Given the description of an element on the screen output the (x, y) to click on. 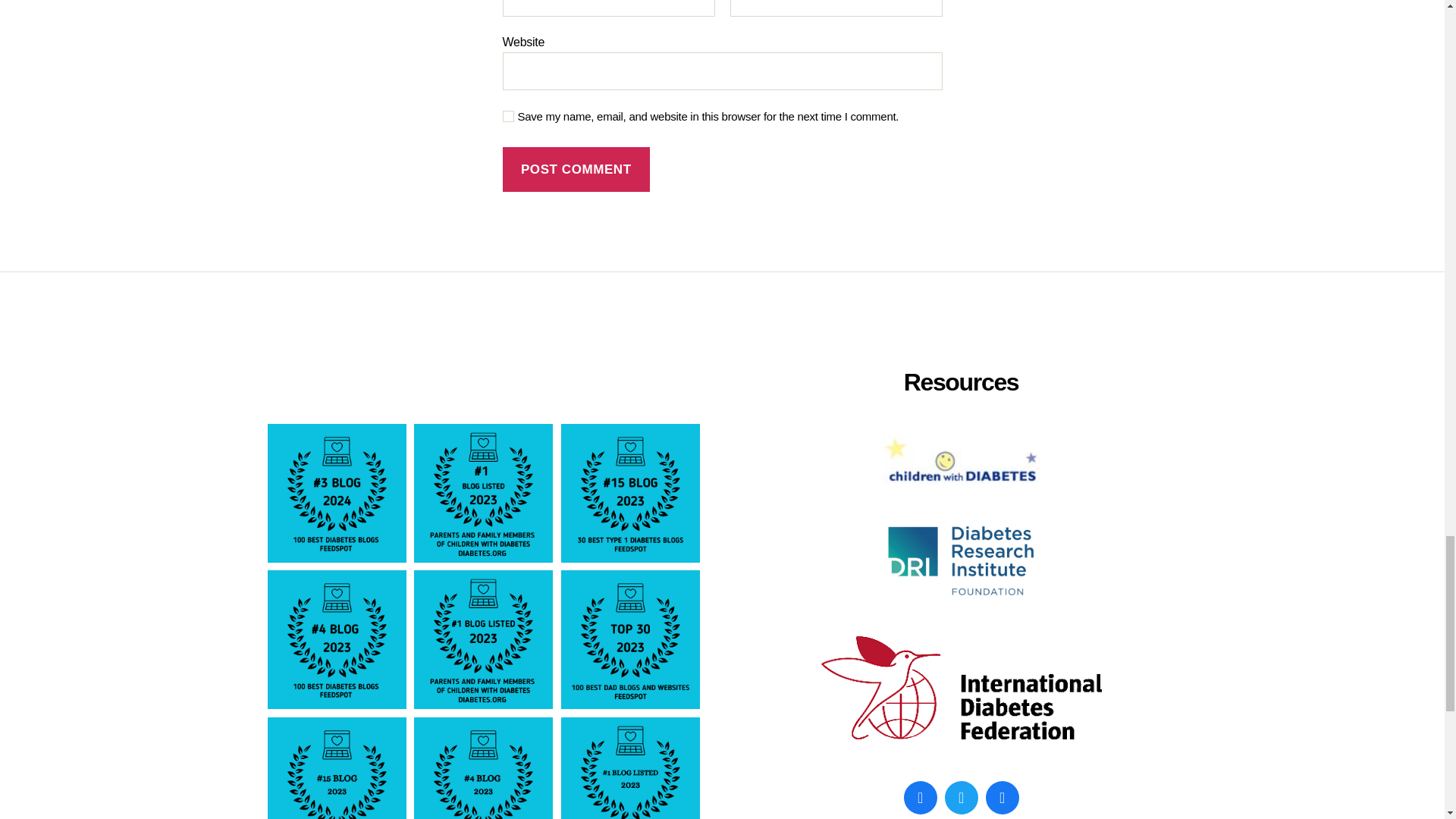
Twitter (960, 797)
Linkedin (1001, 797)
yes (507, 116)
Post Comment (575, 169)
Facebook (919, 797)
